Given the description of an element on the screen output the (x, y) to click on. 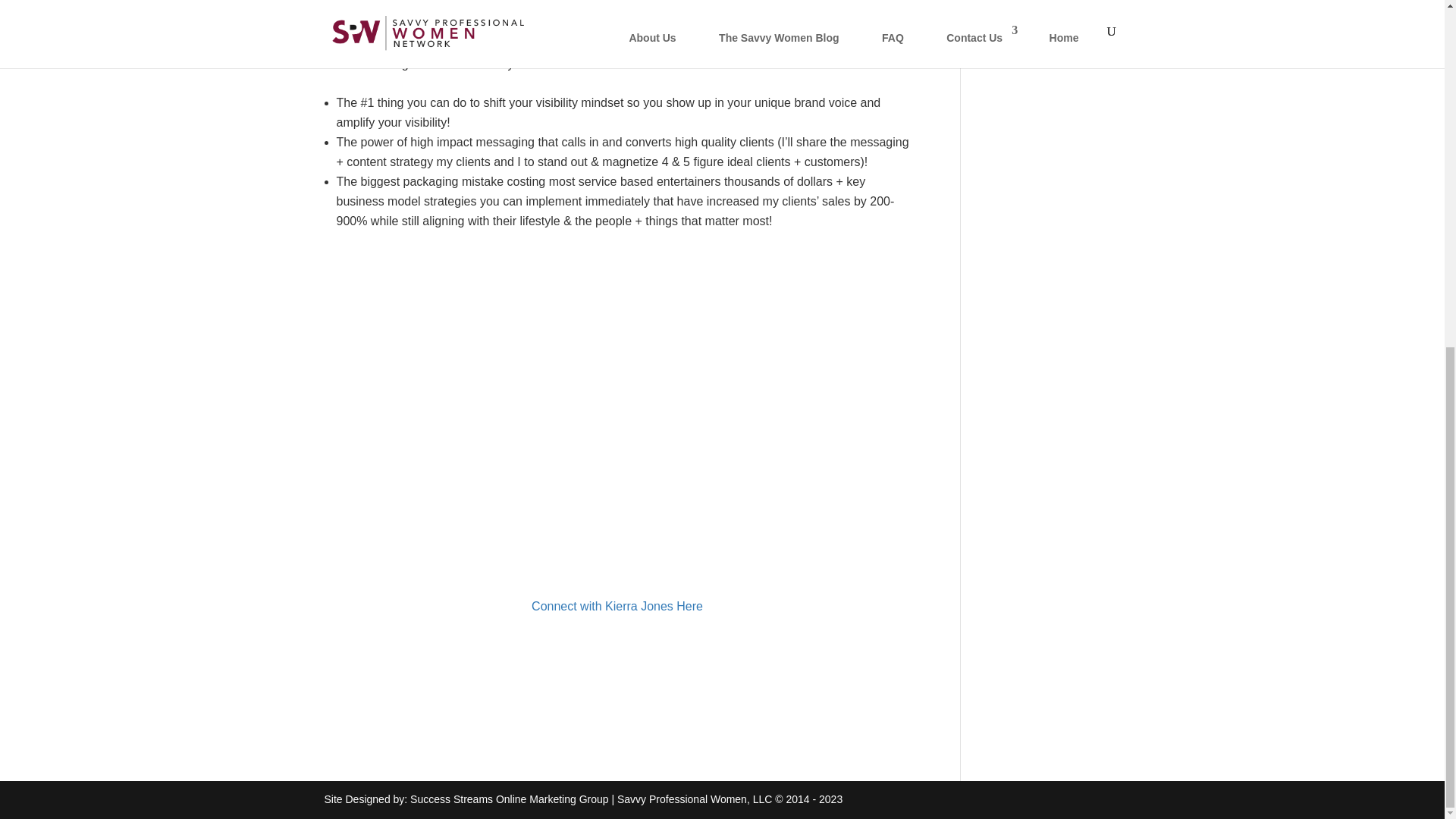
Connect with Kierra Jones Here (617, 605)
